Given the description of an element on the screen output the (x, y) to click on. 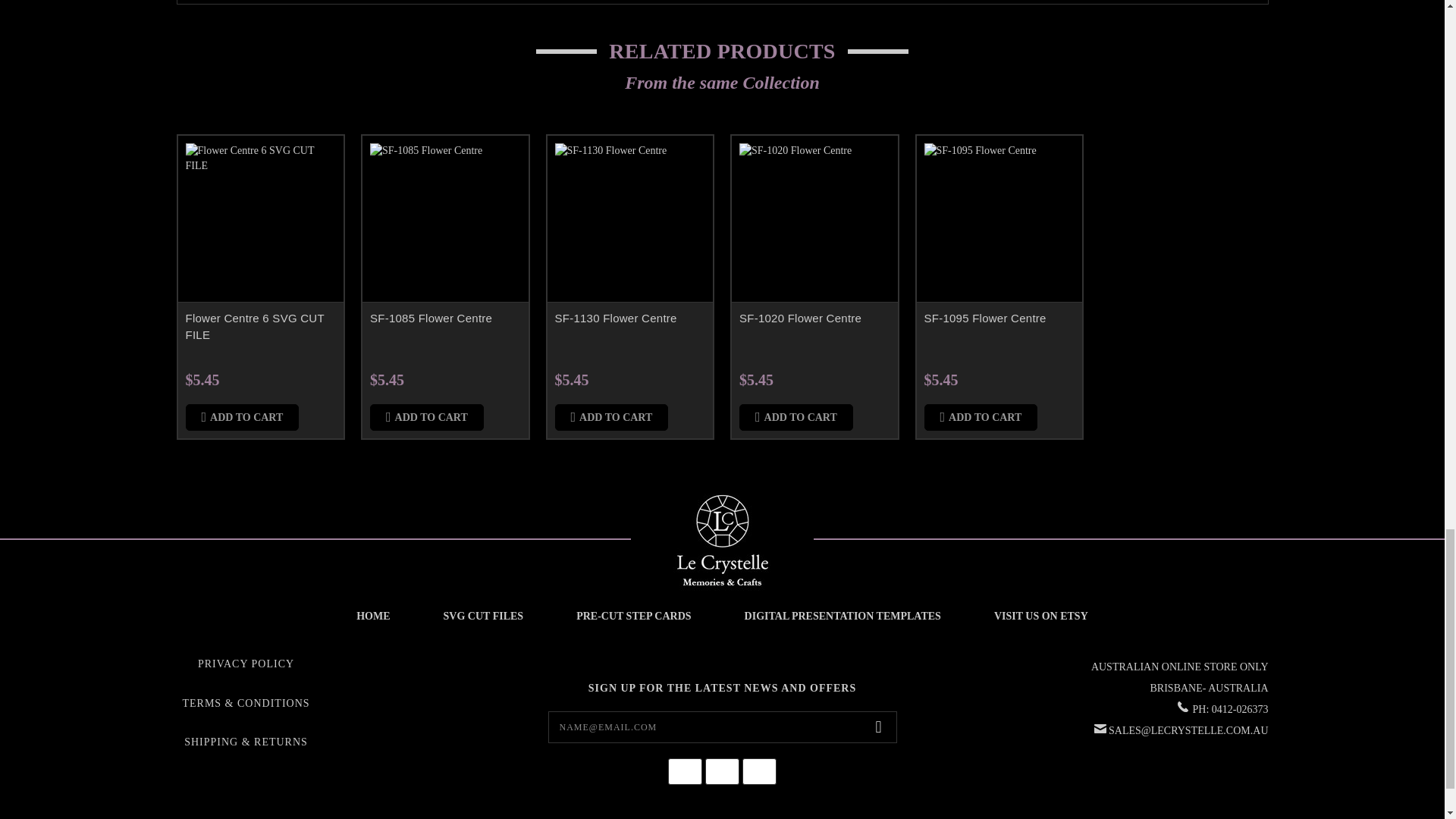
Flower Centre 6 SVG CUT FILE (260, 218)
SF-1085 Flower Centre  (445, 218)
